Given the description of an element on the screen output the (x, y) to click on. 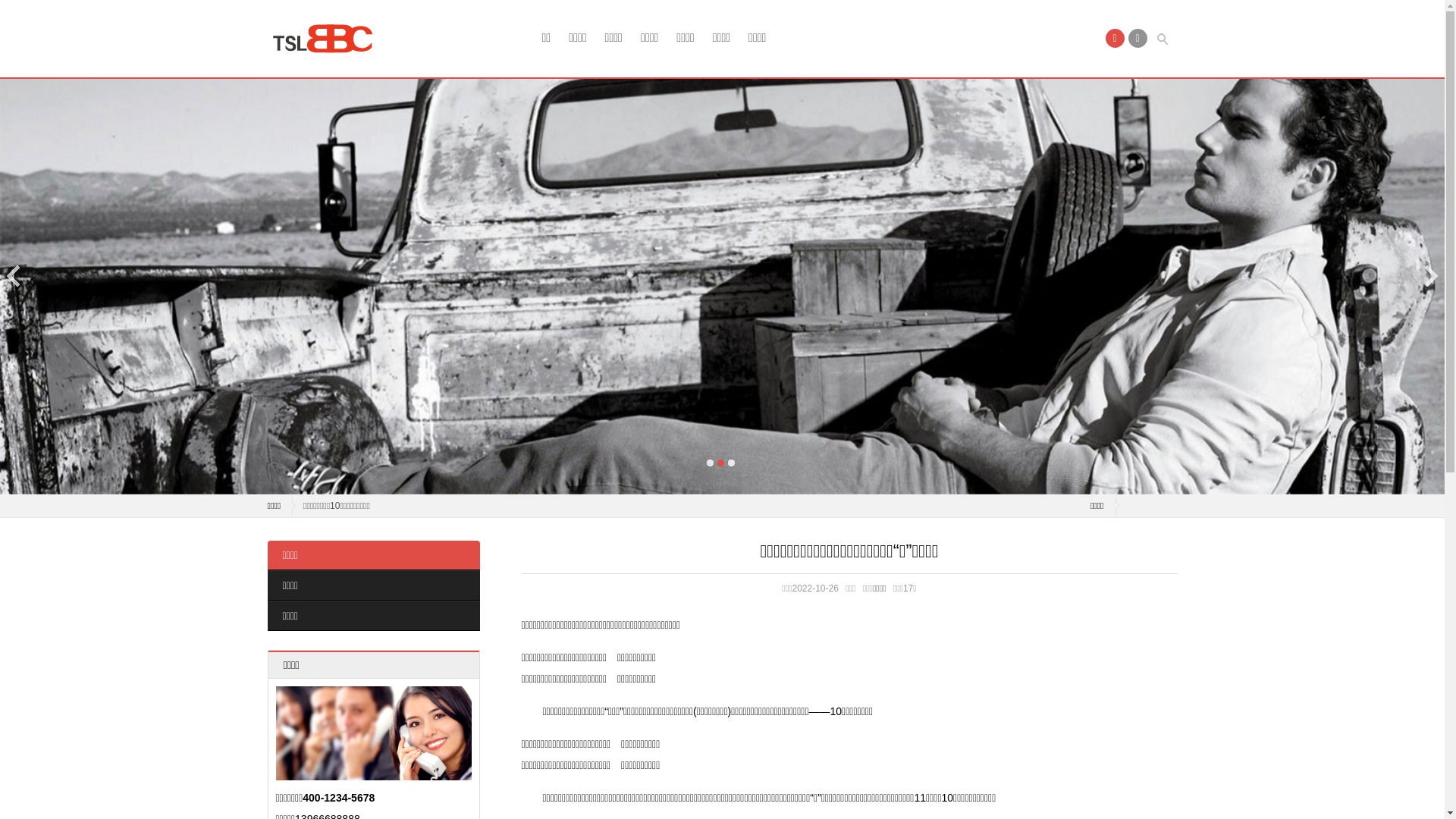
Next Element type: text (1429, 275)
1 Element type: text (709, 462)
Previous Element type: text (14, 275)
2 Element type: text (720, 462)
  Element type: hover (327, 38)
3 Element type: text (731, 462)
